Given the description of an element on the screen output the (x, y) to click on. 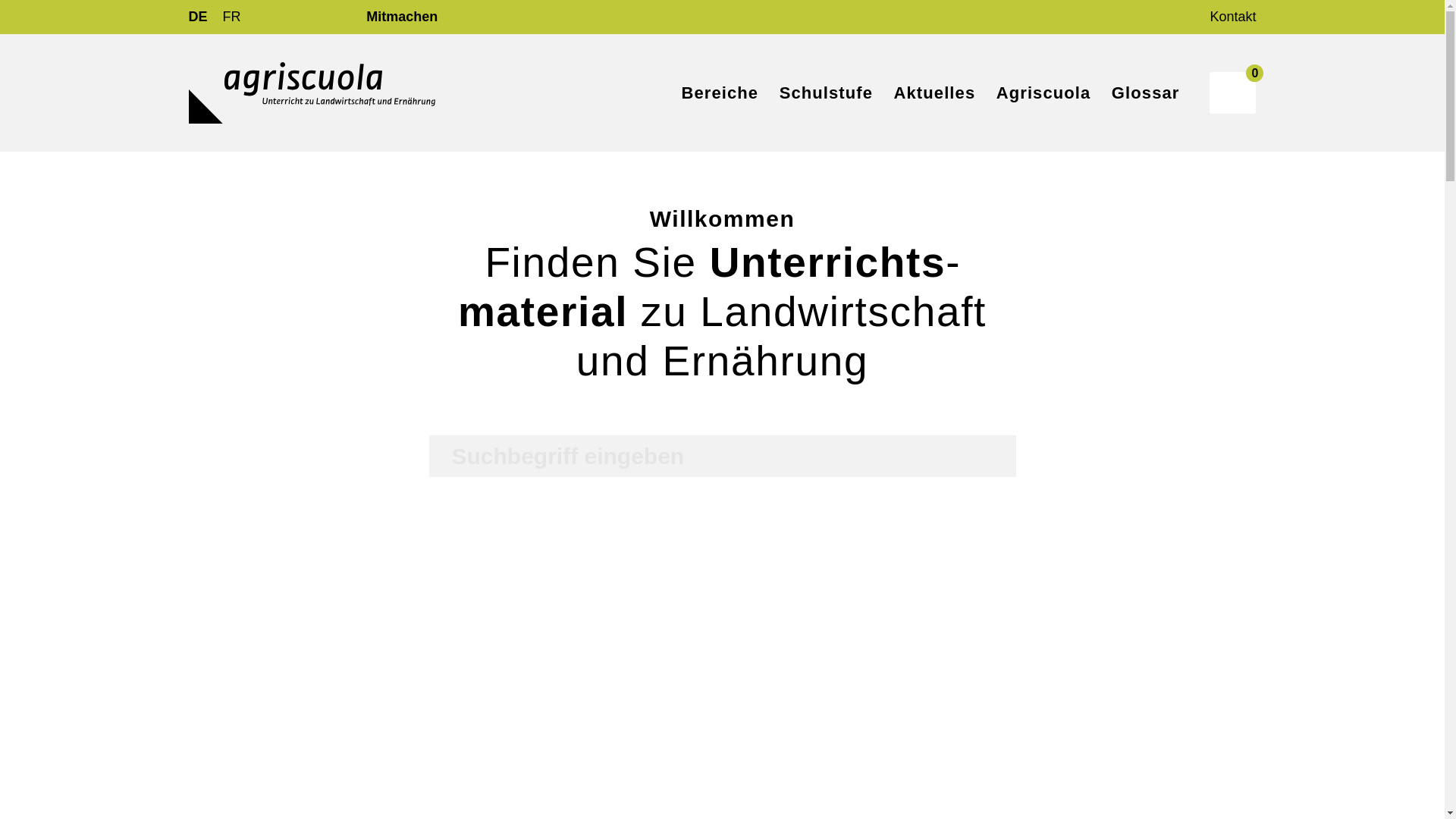
Bereiche Element type: text (719, 93)
FR Element type: text (231, 17)
Glossar Element type: text (1145, 93)
Kontakt Element type: text (1232, 17)
Aktuelles Element type: text (934, 93)
Mitmachen Element type: text (401, 16)
Schulstufe Element type: text (825, 93)
0 Element type: text (1232, 92)
Agriscuola Element type: text (1043, 93)
